Given the description of an element on the screen output the (x, y) to click on. 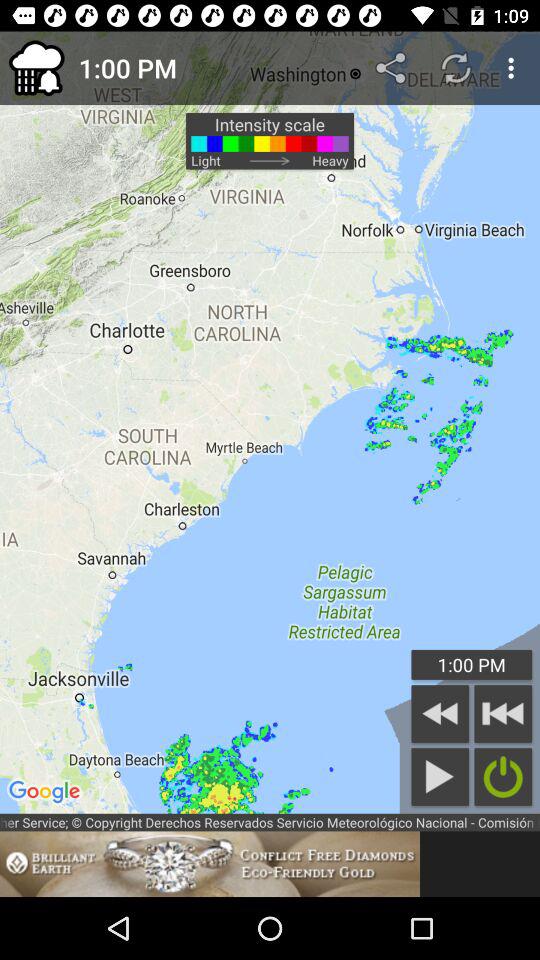
advertisement (210, 864)
